Given the description of an element on the screen output the (x, y) to click on. 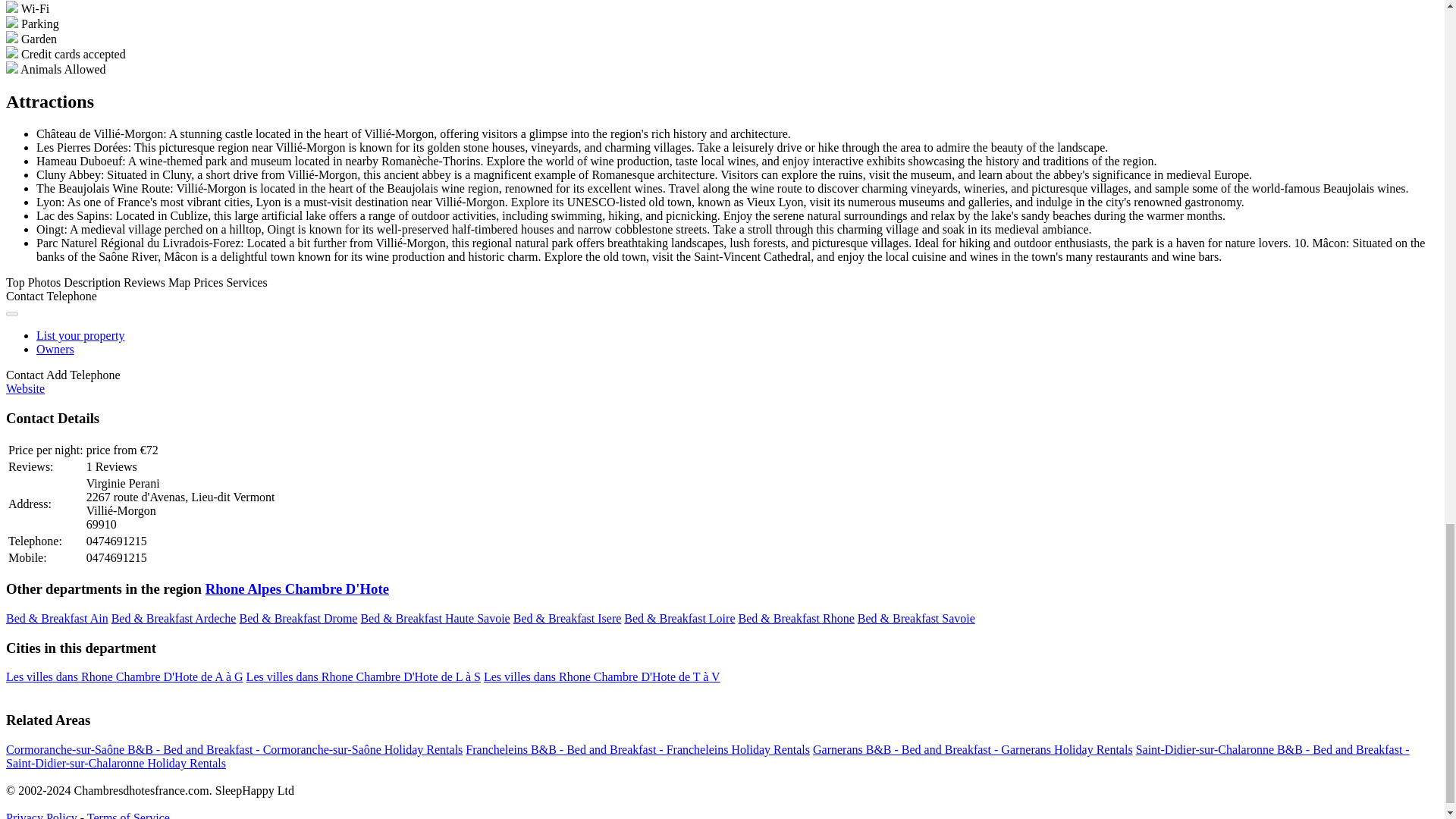
Contact (24, 295)
Telephone (71, 295)
List your property (79, 335)
Contact (24, 374)
Owners (55, 349)
Top (14, 282)
Map (179, 282)
Add (56, 374)
Photos (44, 282)
Services (245, 282)
Reviews (144, 282)
Website (25, 388)
Description (92, 282)
Telephone (94, 374)
Prices (207, 282)
